Given the description of an element on the screen output the (x, y) to click on. 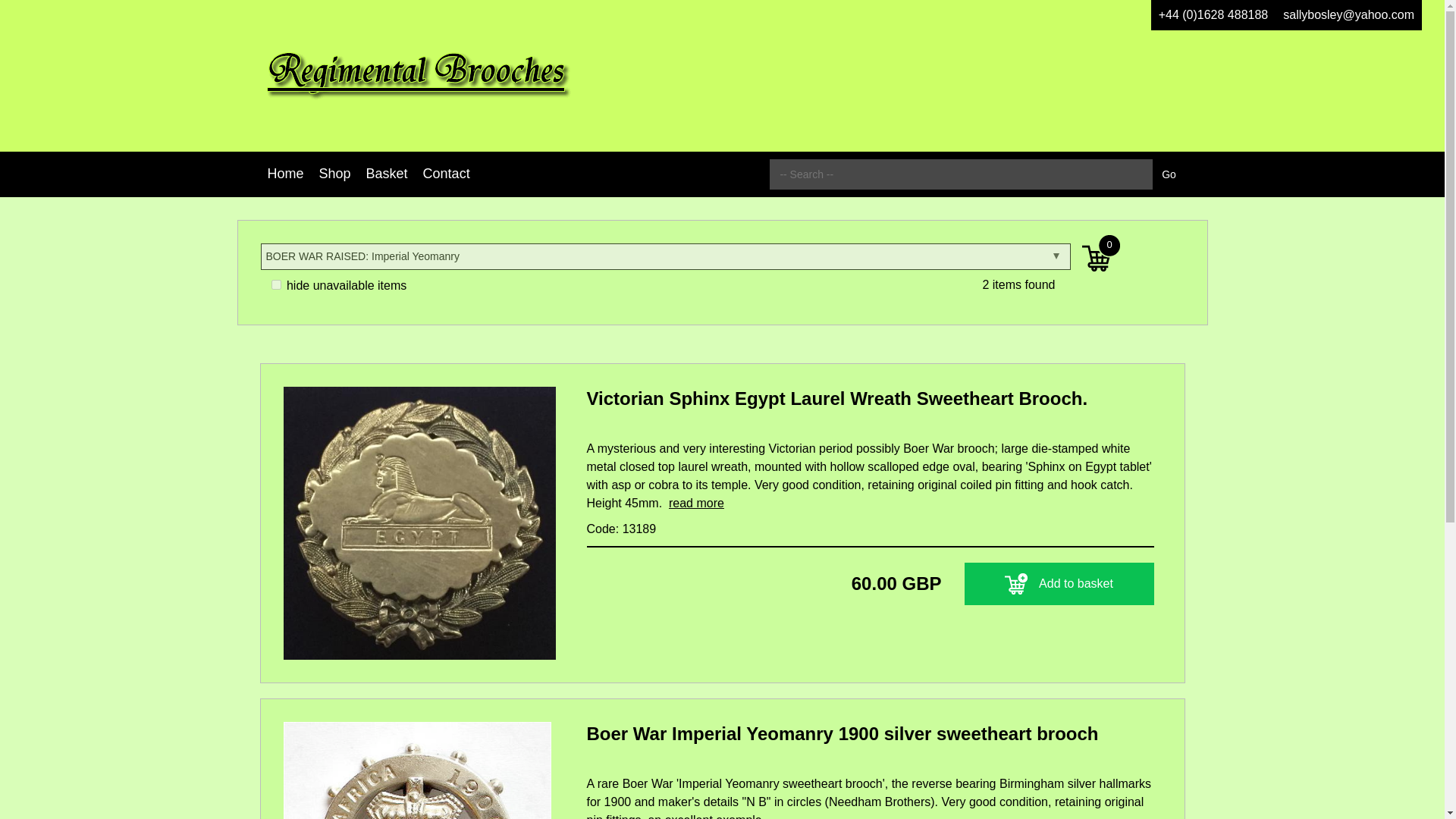
Home (285, 173)
baskett (1100, 252)
Basket (386, 173)
Logo (429, 75)
Go (1169, 174)
Go (1169, 174)
Add to basket (1058, 583)
add to basket (1015, 583)
Shop (334, 173)
Victorian Sphinx Egypt Laurel Wreath Sweetheart Brooch. (870, 403)
